Given the description of an element on the screen output the (x, y) to click on. 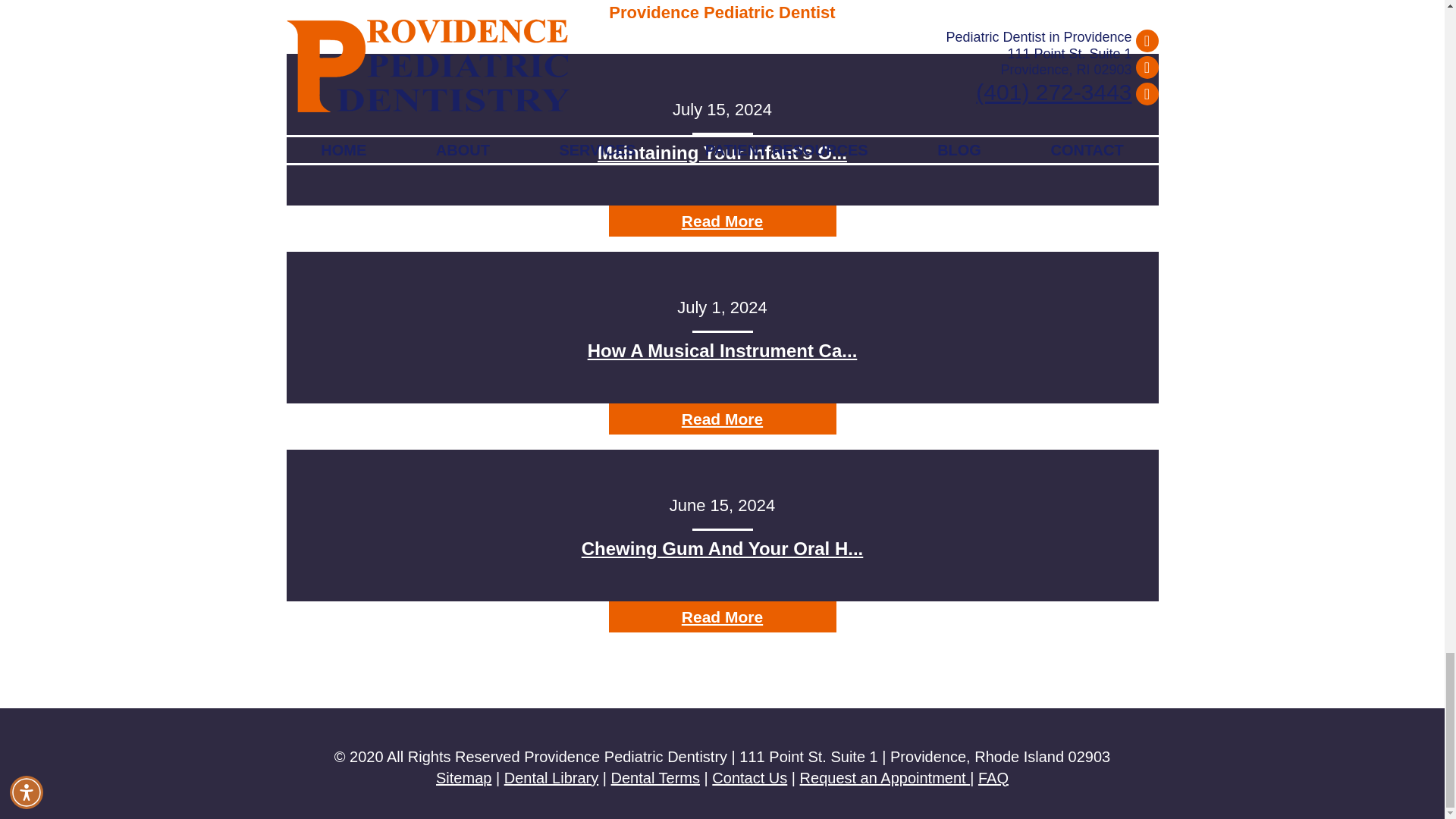
Read More (721, 220)
